Given the description of an element on the screen output the (x, y) to click on. 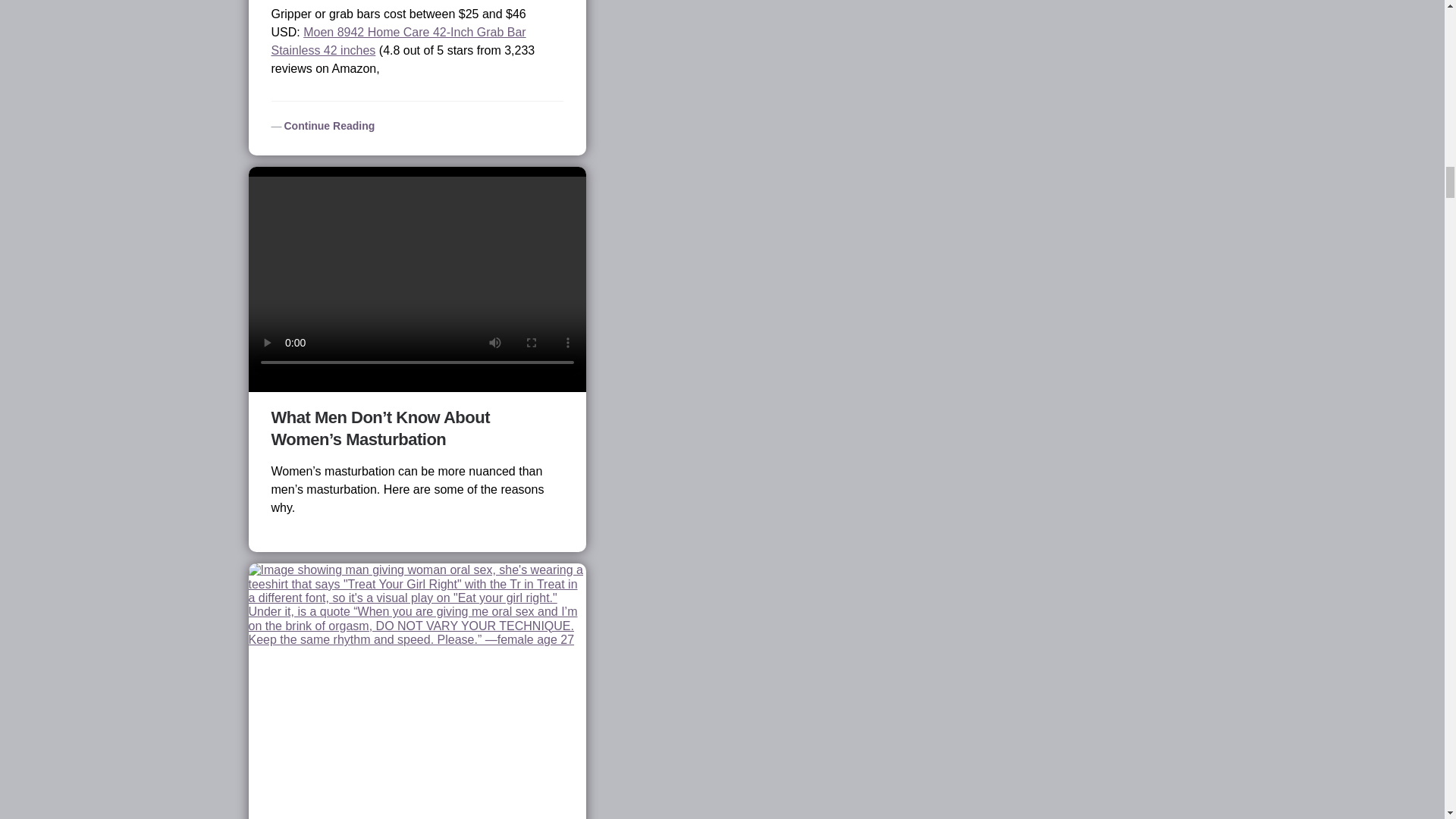
Moen 8942 Home Care 42-Inch Grab Bar Stainless 42 inches (397, 40)
Continue Reading (322, 125)
